Given the description of an element on the screen output the (x, y) to click on. 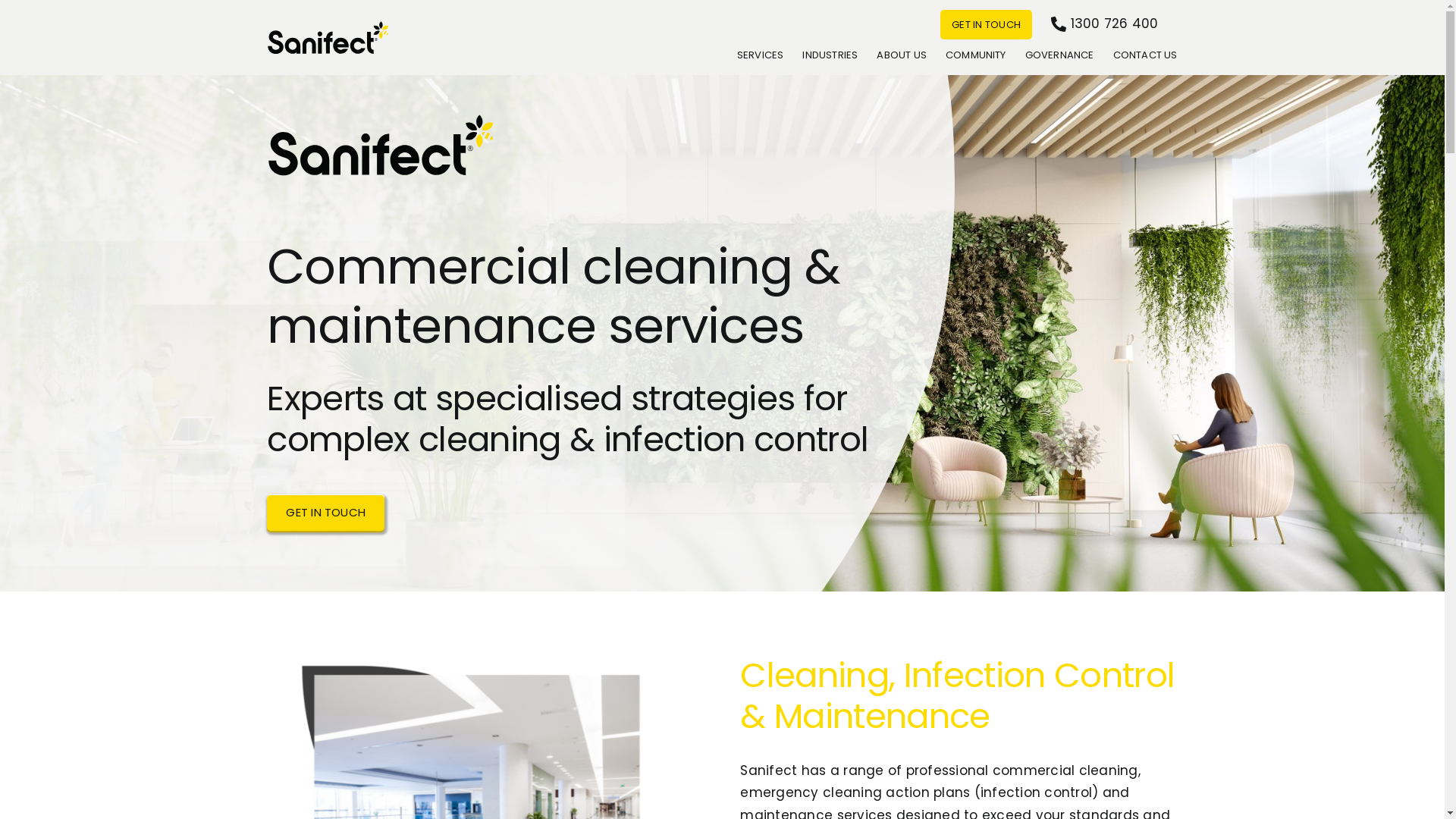
CONTACT US Element type: text (1145, 55)
ABOUT US Element type: text (901, 55)
GET IN TOUCH Element type: text (325, 512)
1300 726 400 Element type: text (1114, 23)
GOVERNANCE Element type: text (1059, 55)
SERVICES Element type: text (760, 55)
INDUSTRIES Element type: text (829, 55)
COMMUNITY Element type: text (975, 55)
GET IN TOUCH Element type: text (986, 24)
